Given the description of an element on the screen output the (x, y) to click on. 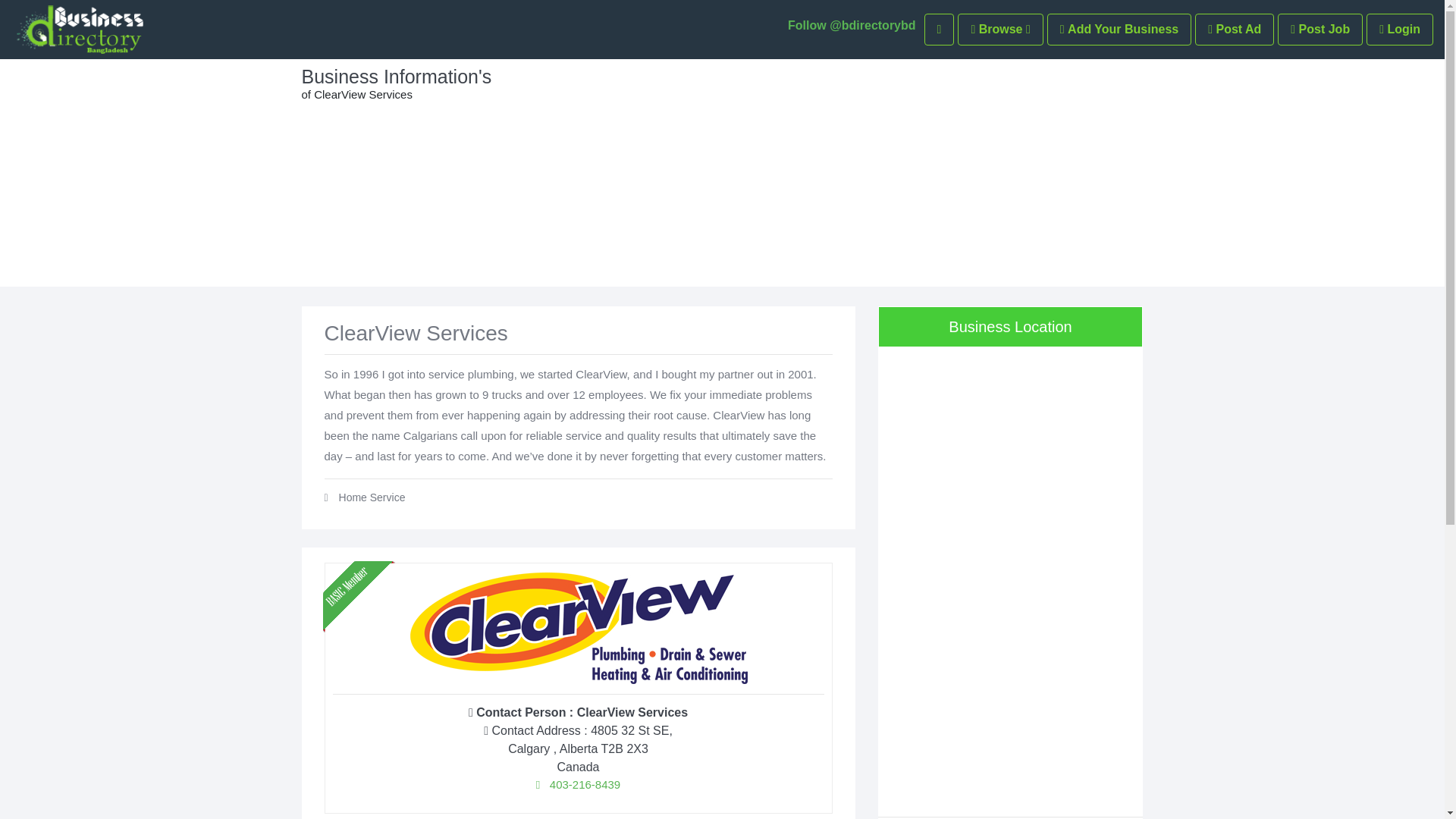
Add Your Business (1118, 29)
Login (1399, 29)
My Account (1000, 29)
Browse (1000, 29)
Advertisement (1009, 701)
Advertisement (829, 172)
Add Your Business (1118, 29)
Global Business Directory (79, 29)
Follow Us on Twitter (851, 25)
Post Job (1320, 29)
